Given the description of an element on the screen output the (x, y) to click on. 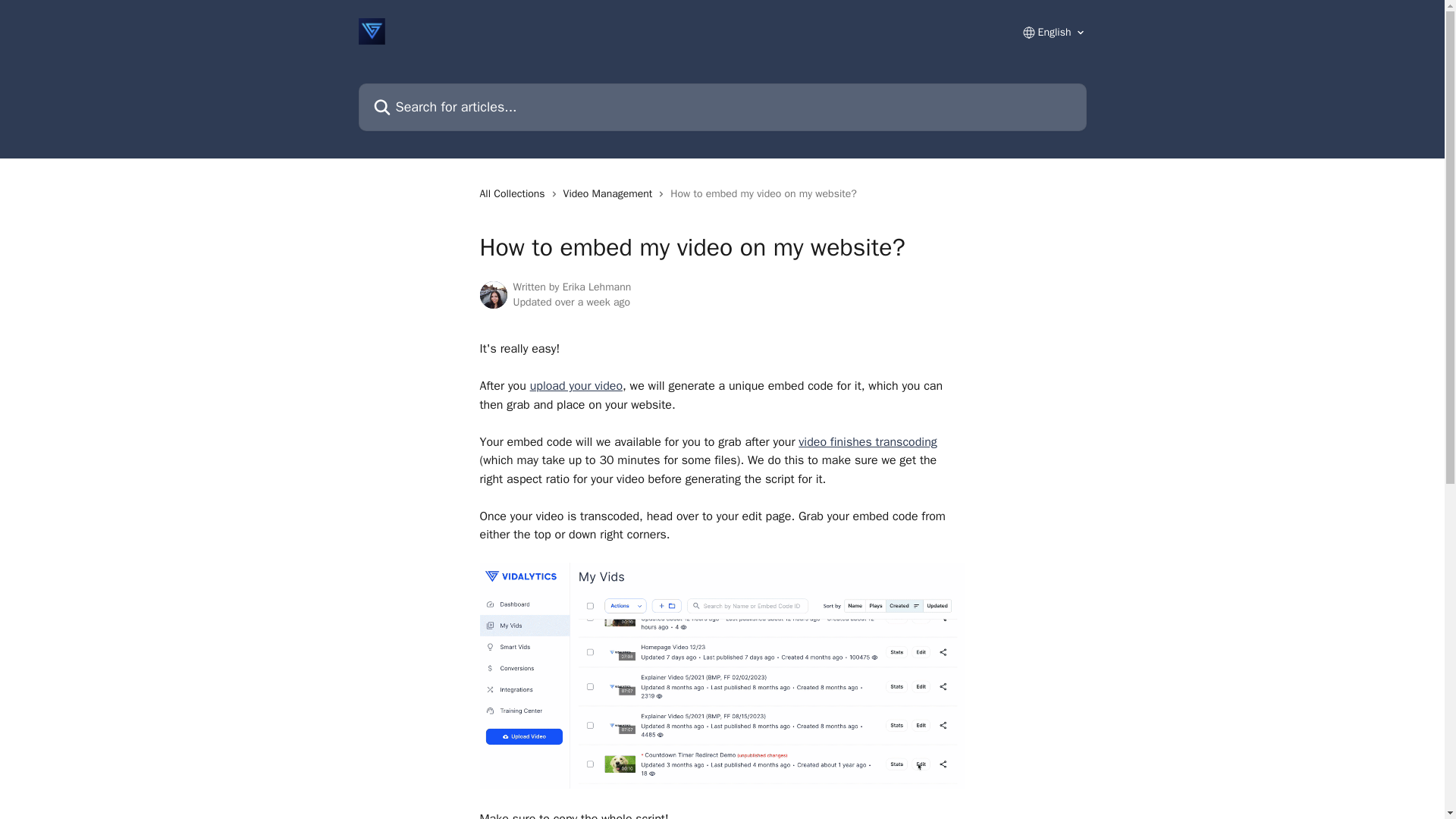
upload your video (576, 385)
All Collections (514, 193)
video finishes transcoding (866, 441)
Video Management (611, 193)
